Given the description of an element on the screen output the (x, y) to click on. 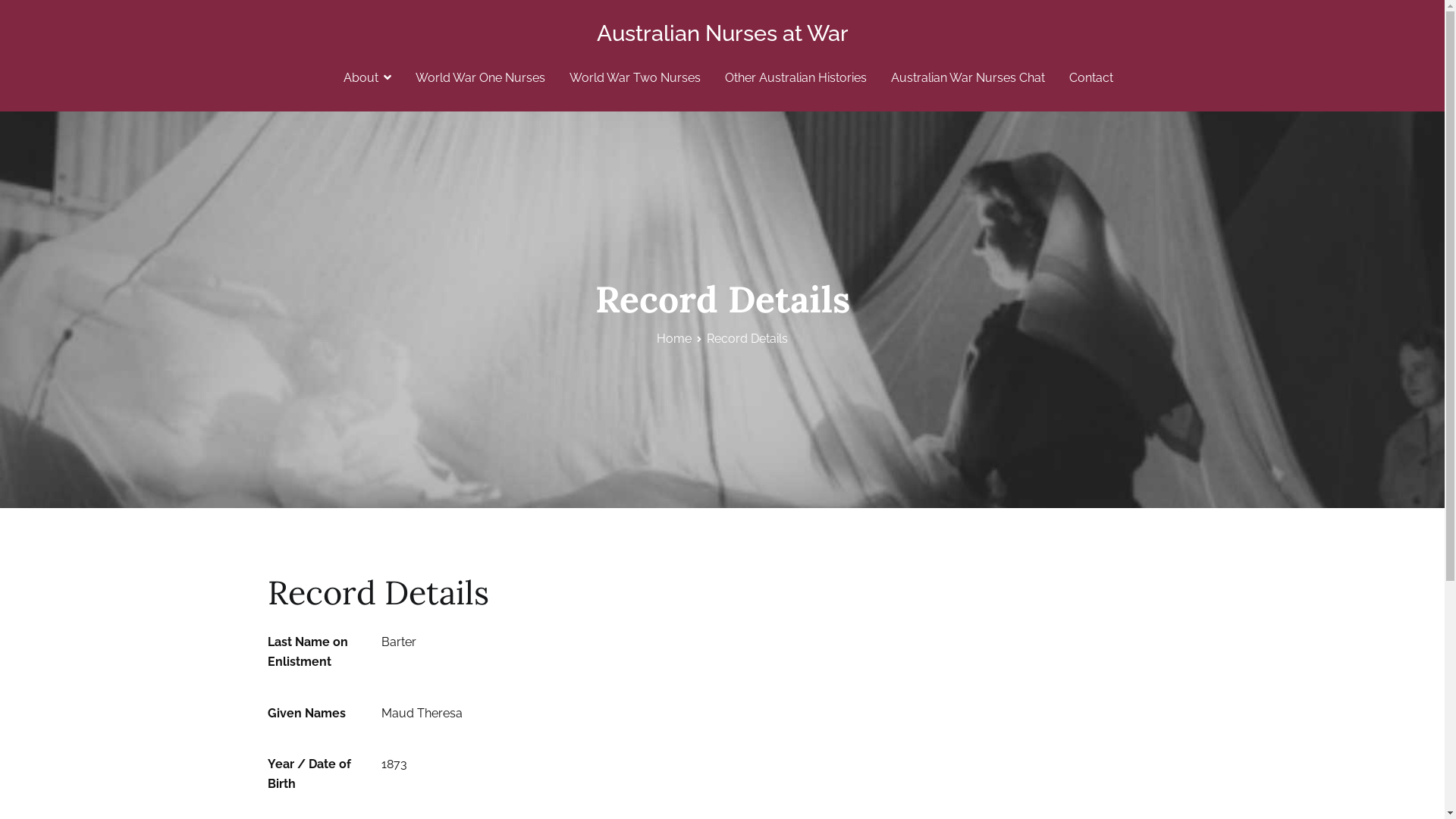
World War One Nurses Element type: text (480, 77)
Australian War Nurses Chat Element type: text (967, 77)
World War Two Nurses Element type: text (634, 77)
Contact Element type: text (1091, 77)
Home Element type: text (673, 338)
Other Australian Histories Element type: text (795, 77)
Australian Nurses at War Element type: text (721, 33)
About Element type: text (367, 77)
